Given the description of an element on the screen output the (x, y) to click on. 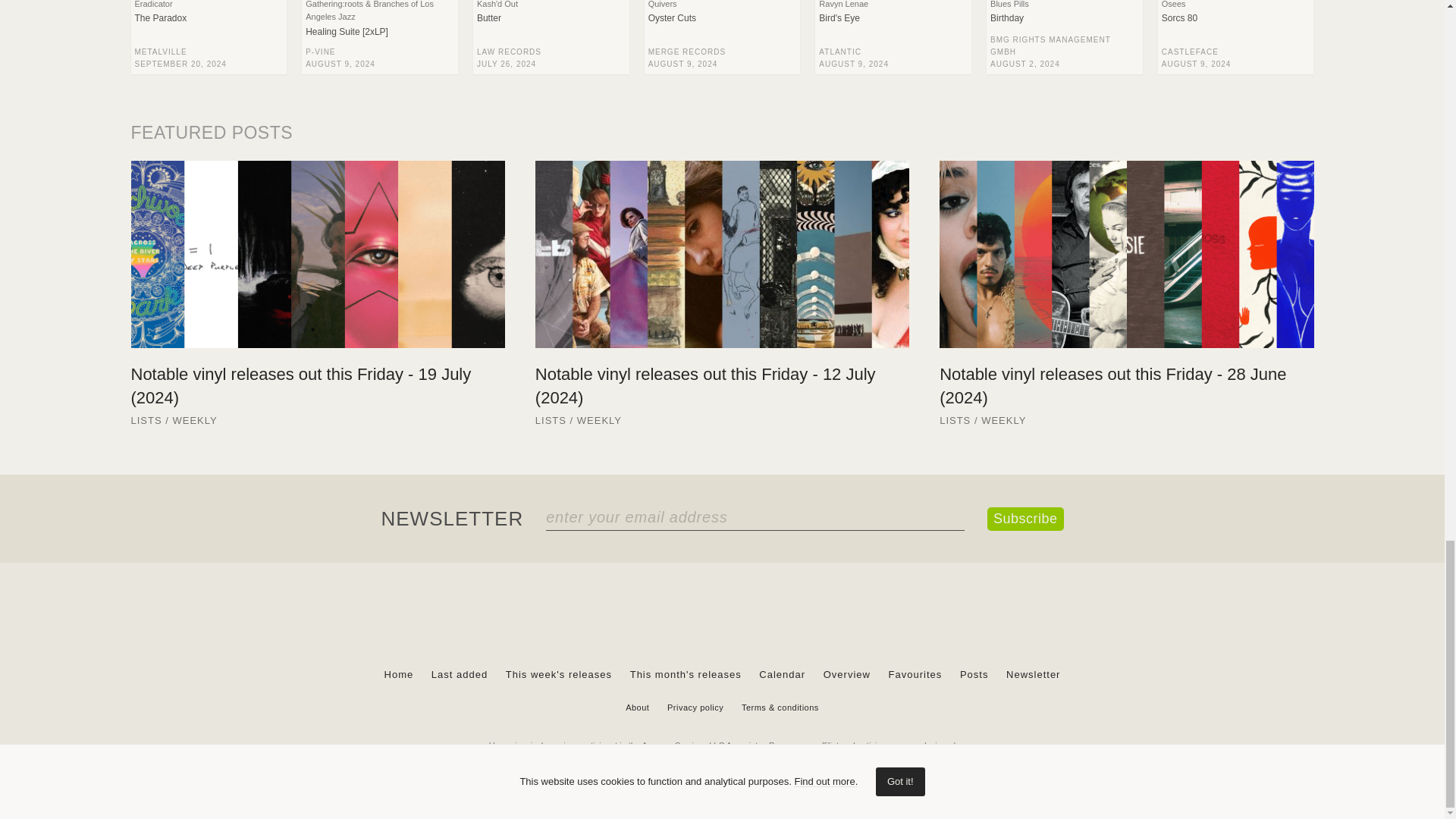
Subscribe (1025, 518)
